Given the description of an element on the screen output the (x, y) to click on. 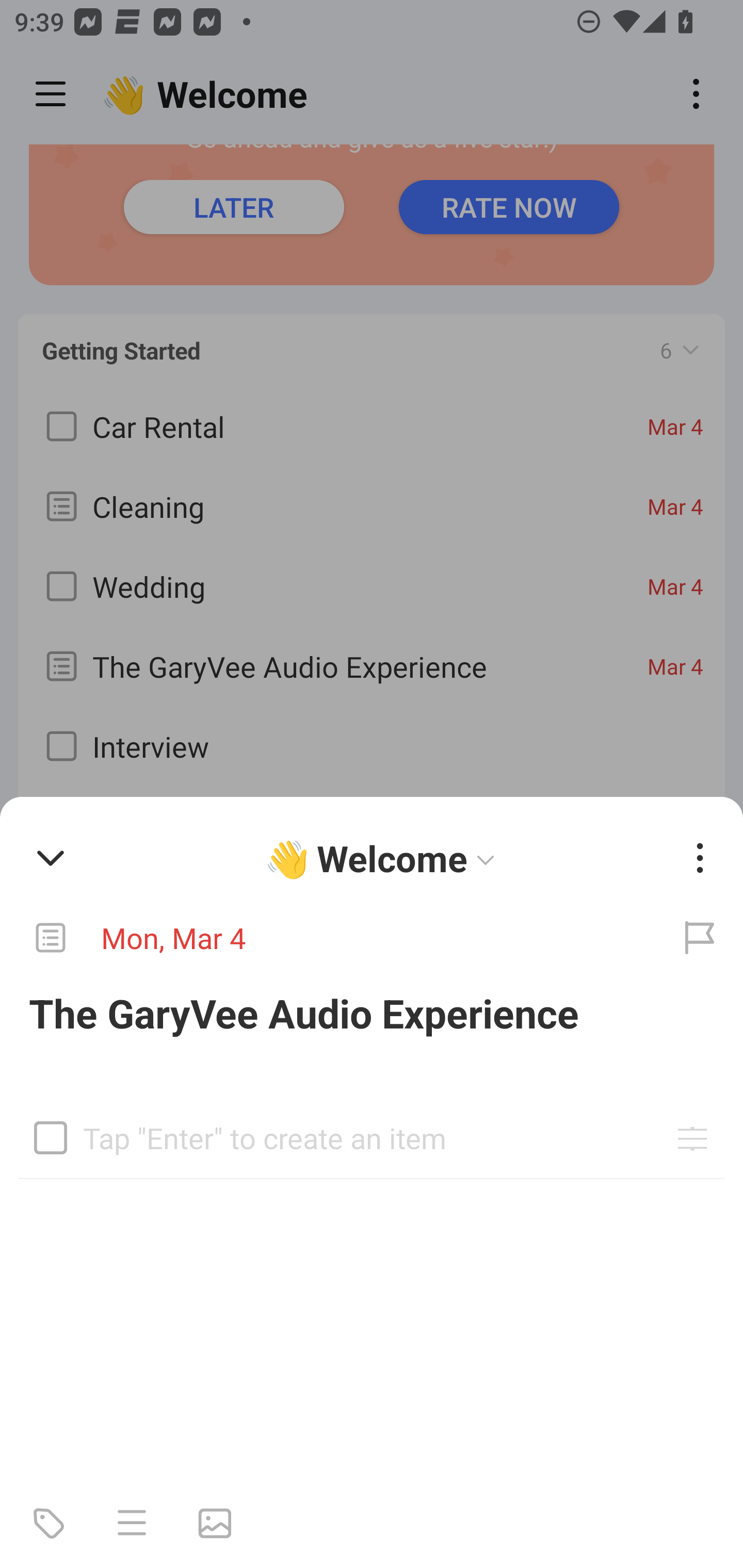
👋 Welcome (384, 858)
Mon, Mar 4  (328, 938)
The GaryVee Audio Experience (371, 1012)
  Tap "Enter" to create an item   (371, 1141)
  (50, 1137)
Tap "Enter" to create an item (371, 1130)
